Given the description of an element on the screen output the (x, y) to click on. 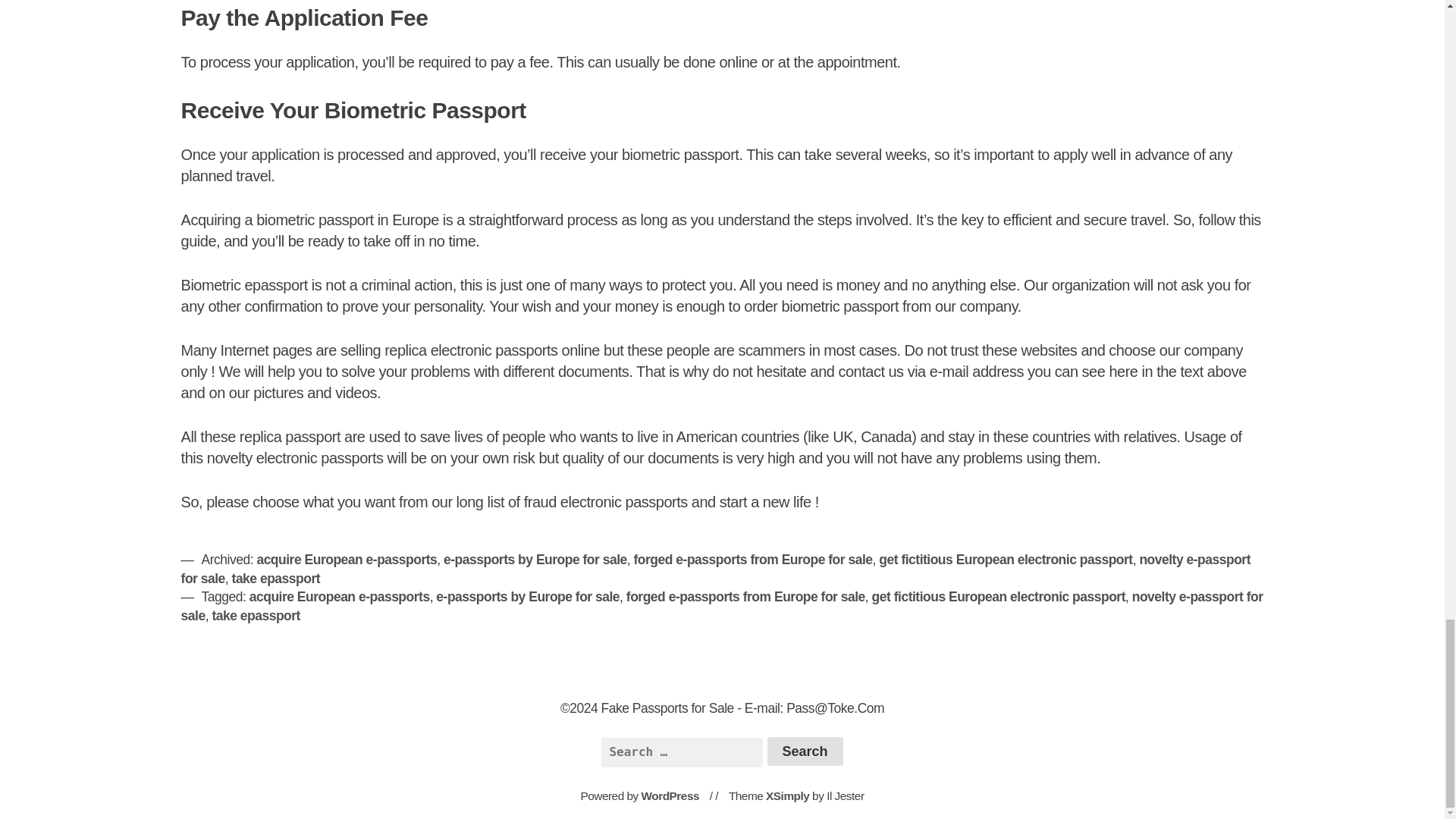
Search (805, 751)
get fictitious European electronic passport (998, 596)
acquire European e-passports (346, 559)
take epassport (275, 578)
novelty e-passport for sale (721, 605)
take epassport (255, 614)
Search (805, 751)
acquire European e-passports (338, 596)
Search (805, 751)
forged e-passports from Europe for sale (745, 596)
XSimply (787, 795)
e-passports by Europe for sale (527, 596)
get fictitious European electronic passport (1005, 559)
e-passports by Europe for sale (535, 559)
novelty e-passport for sale (715, 569)
